Given the description of an element on the screen output the (x, y) to click on. 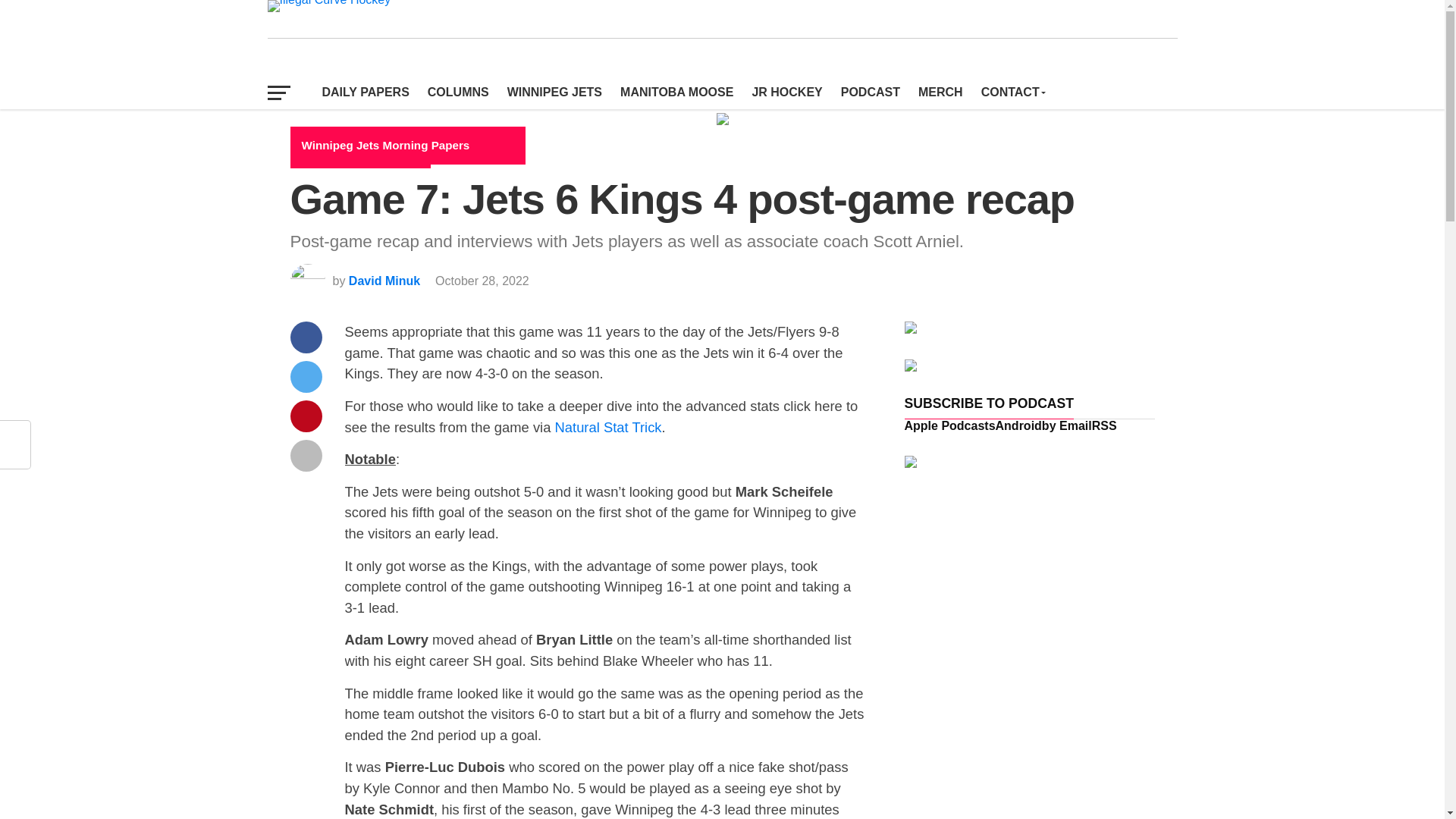
WINNIPEG JETS (554, 92)
MANITOBA MOOSE (676, 92)
MERCH (940, 92)
Subscribe by Email (1067, 425)
Natural Stat Trick (608, 426)
Subscribe via RSS (1104, 425)
Posts by David Minuk (384, 280)
JR HOCKEY (786, 92)
Subscribe on Android (1018, 425)
DAILY PAPERS (365, 92)
